Given the description of an element on the screen output the (x, y) to click on. 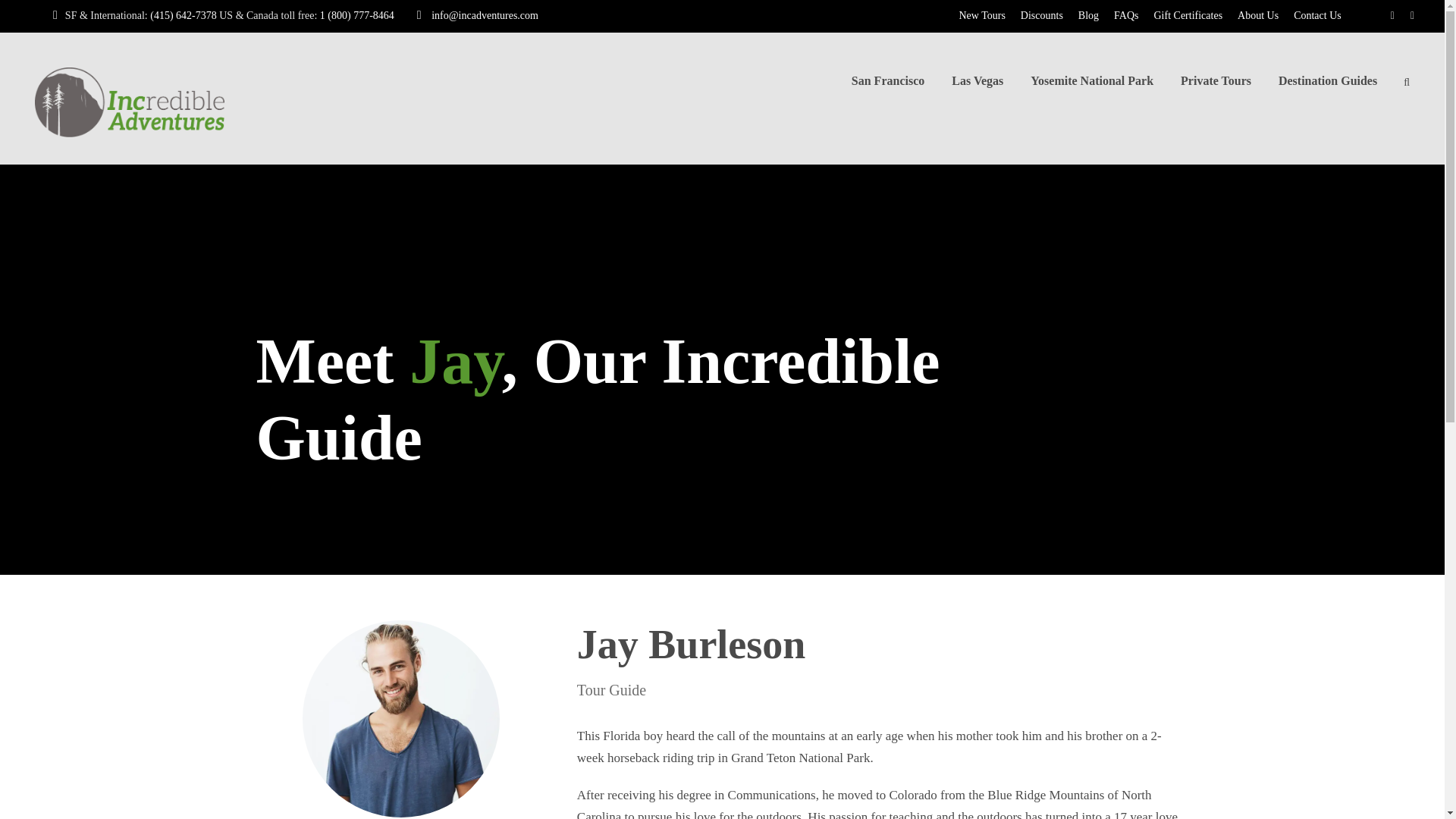
Contact Us (1317, 15)
Discounts (1041, 15)
New Tours (980, 15)
Blog (1088, 15)
Gift Certificates (1188, 15)
About Us (1257, 15)
FAQs (1125, 15)
